Given the description of an element on the screen output the (x, y) to click on. 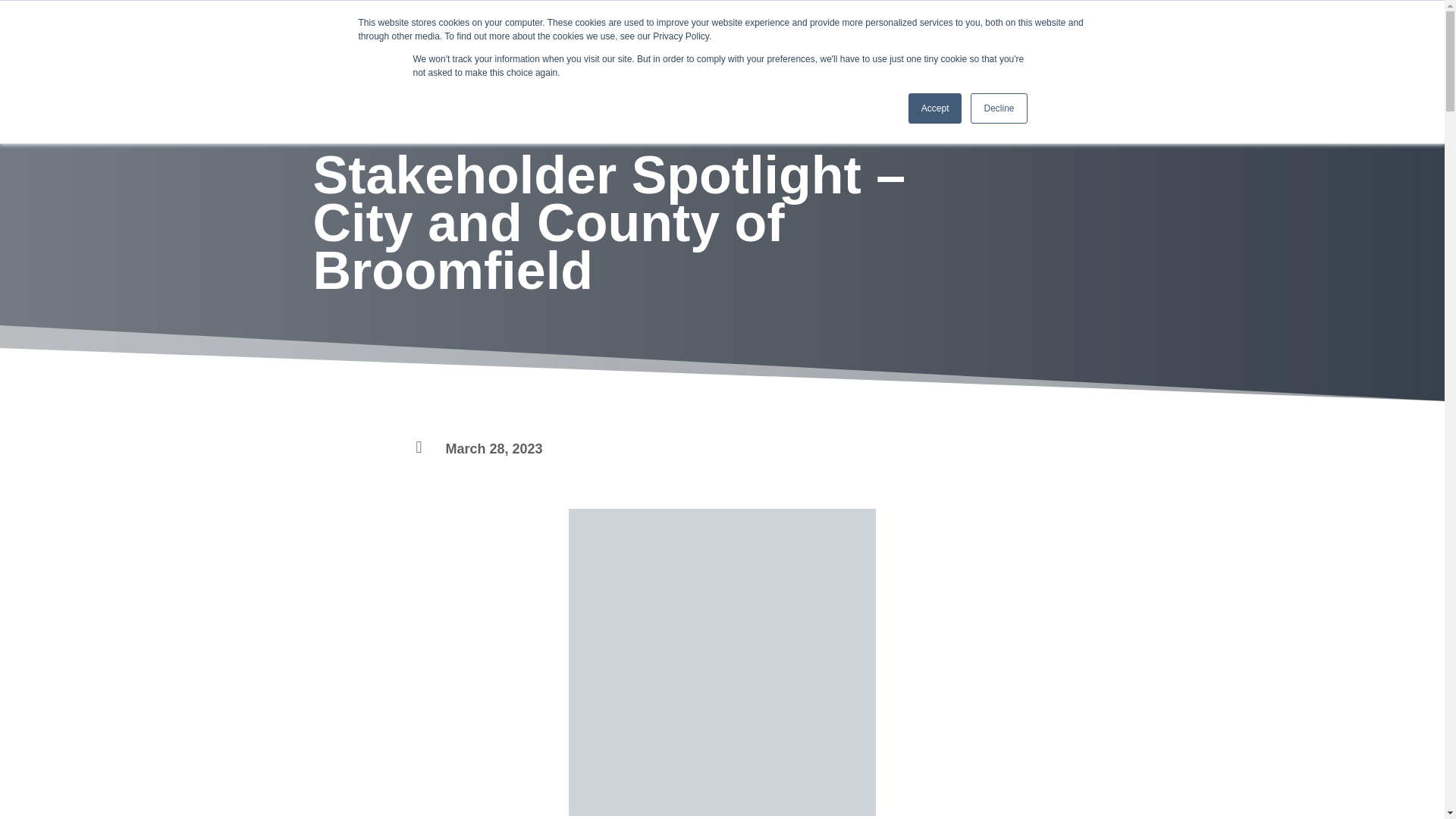
CONTACT US (900, 29)
ABOUT US (518, 29)
RESOURCES (619, 29)
dcc-stakeholder-spotlight-final.pdf (722, 661)
Accept (935, 108)
MEMBERSHIP (730, 29)
Decline (998, 108)
